Given the description of an element on the screen output the (x, y) to click on. 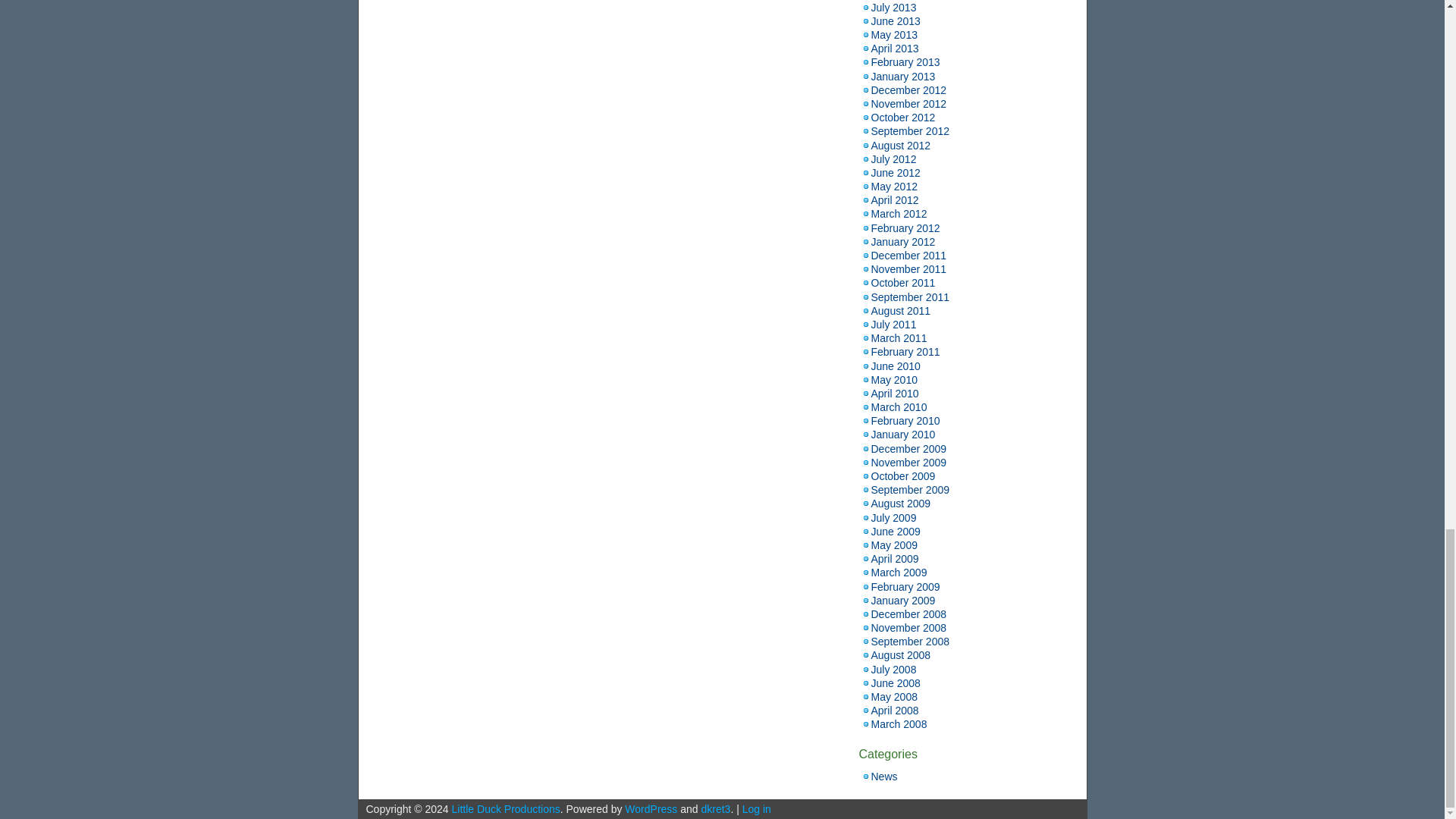
Powered by WordPress (650, 808)
dkret3 4.7.1 (715, 808)
Little Duck Productions (505, 808)
